Given the description of an element on the screen output the (x, y) to click on. 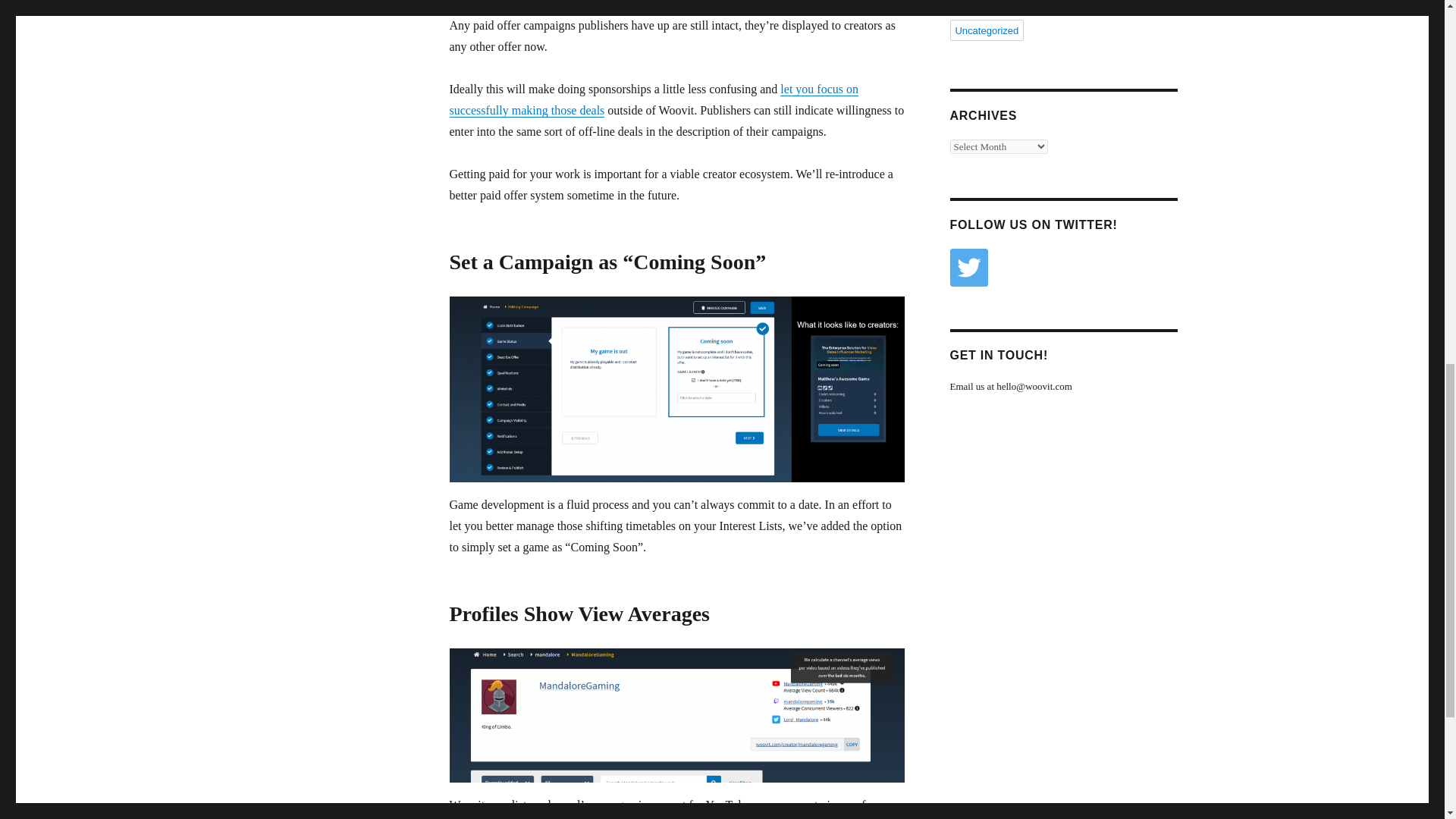
Publisher Tutorials (995, 7)
Uncategorized (986, 29)
Trade Show (1077, 7)
let you focus on successfully making those deals (653, 99)
